Given the description of an element on the screen output the (x, y) to click on. 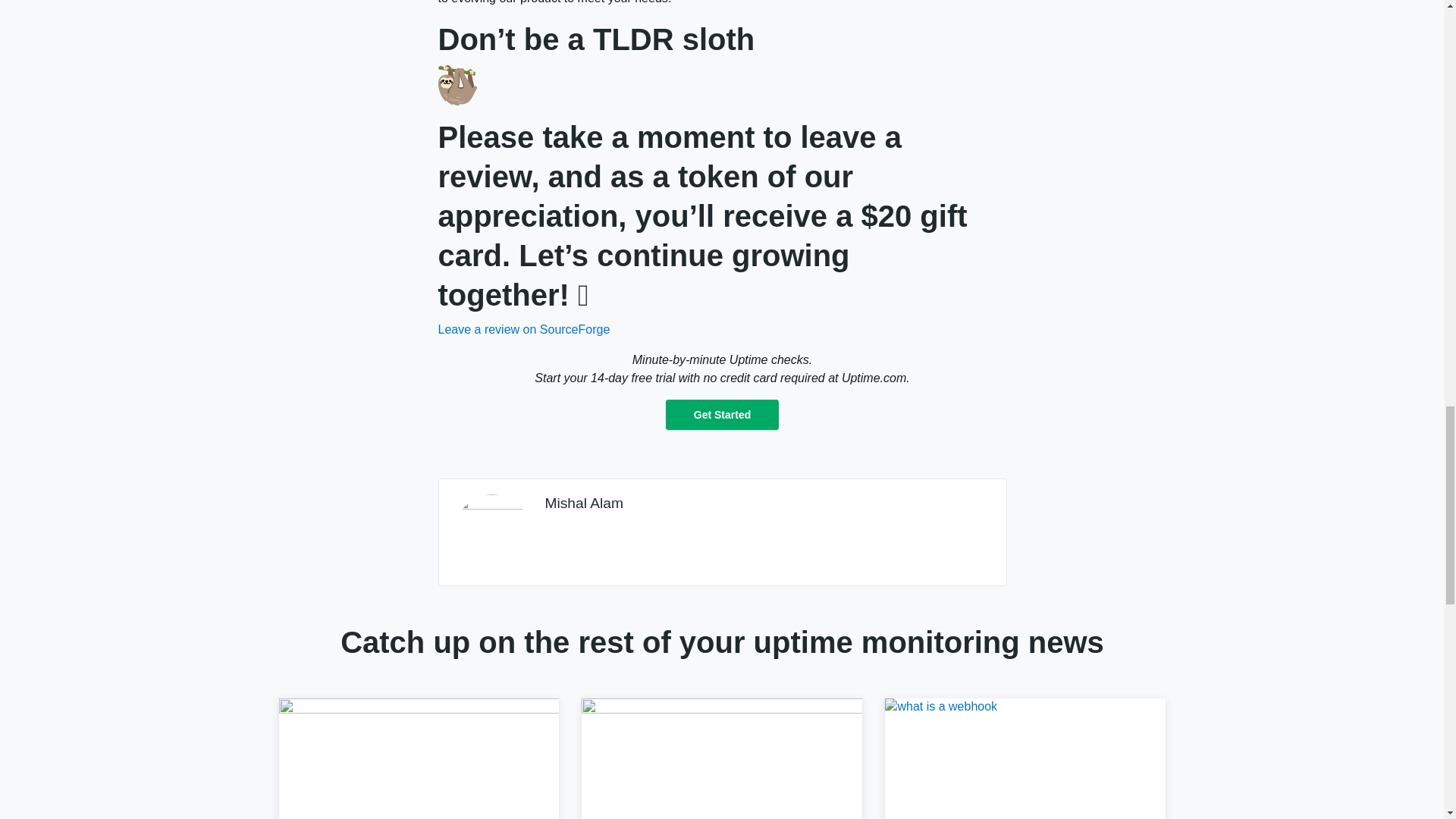
Get Started (721, 414)
Posts by Mishal Alam (583, 503)
Mishal Alam (583, 503)
Leave a review on SourceForge (524, 328)
